Given the description of an element on the screen output the (x, y) to click on. 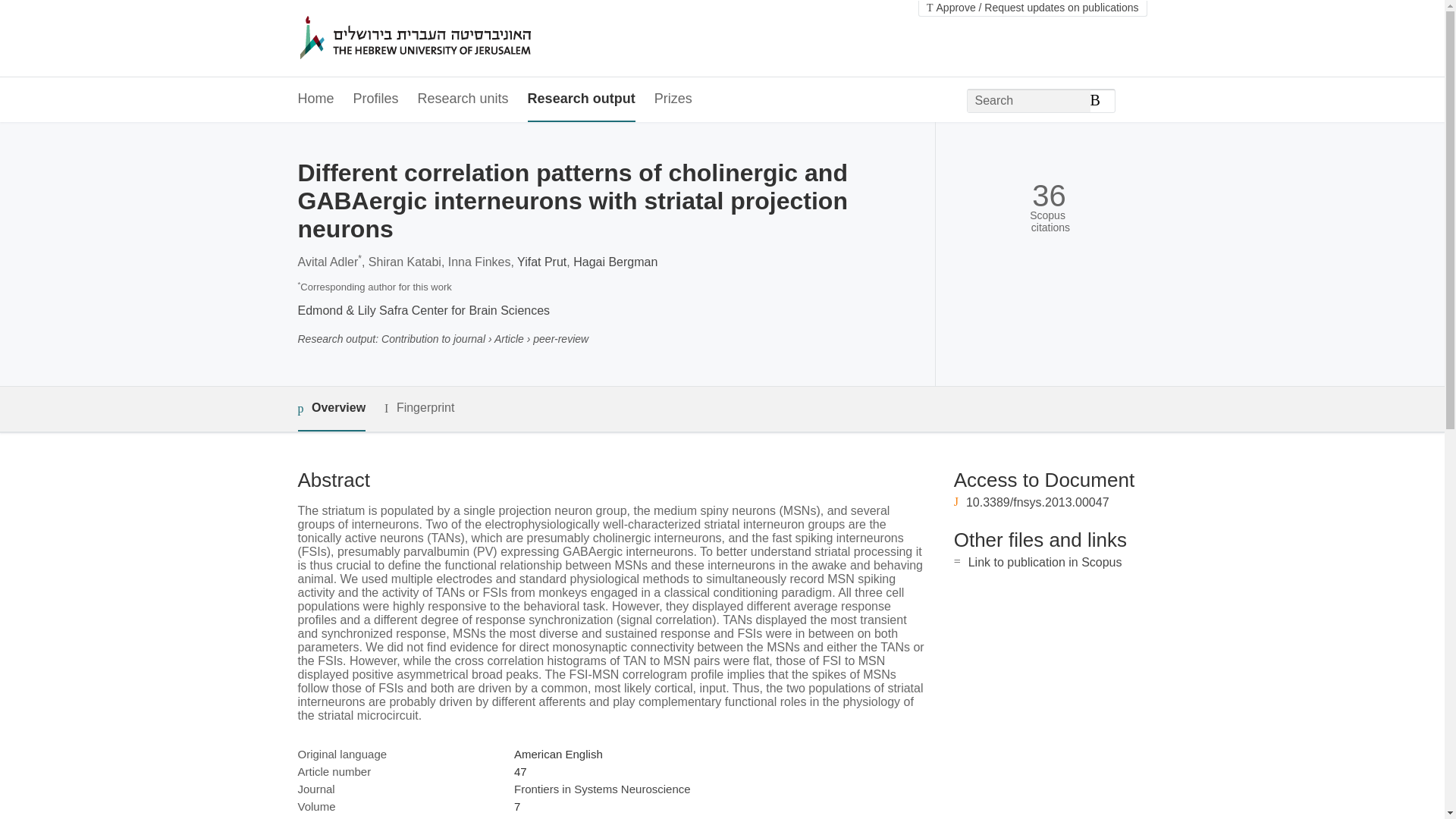
Yifat Prut (541, 261)
The Hebrew University of Jerusalem Home (447, 38)
Research units (462, 99)
Link to publication in Scopus (1045, 562)
Fingerprint (419, 407)
Hagai Bergman (615, 261)
Profiles (375, 99)
Frontiers in Systems Neuroscience (601, 788)
Research output (580, 99)
Overview (331, 408)
